Given the description of an element on the screen output the (x, y) to click on. 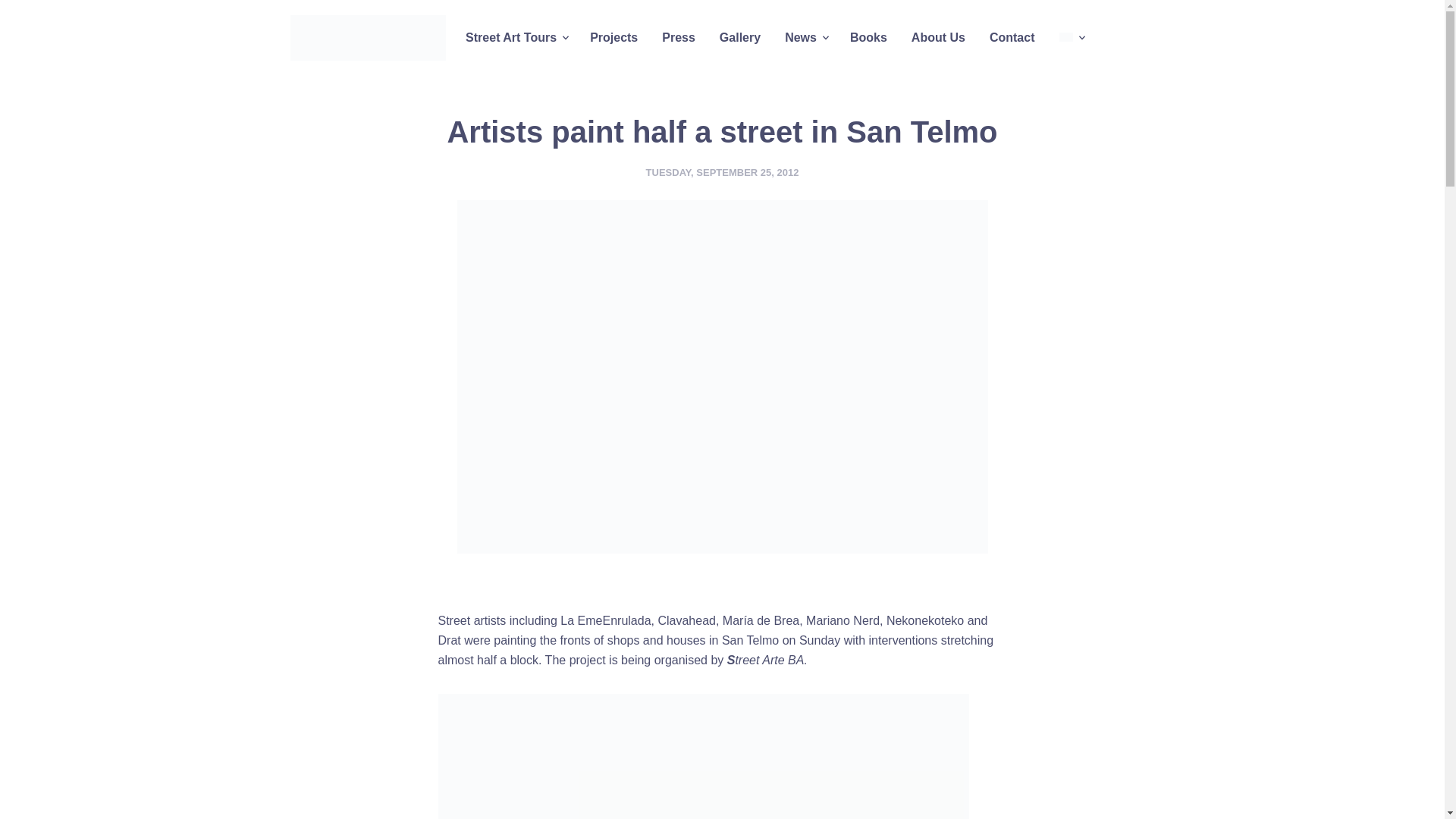
About Us (938, 37)
Press (678, 37)
Permalink to Artists paint half a street in San Telmo (722, 172)
Buenos Aires street art and graffiti tours (367, 37)
News (800, 37)
Street Art Tours (510, 37)
Books (868, 37)
Gallery (740, 37)
Projects (614, 37)
